Given the description of an element on the screen output the (x, y) to click on. 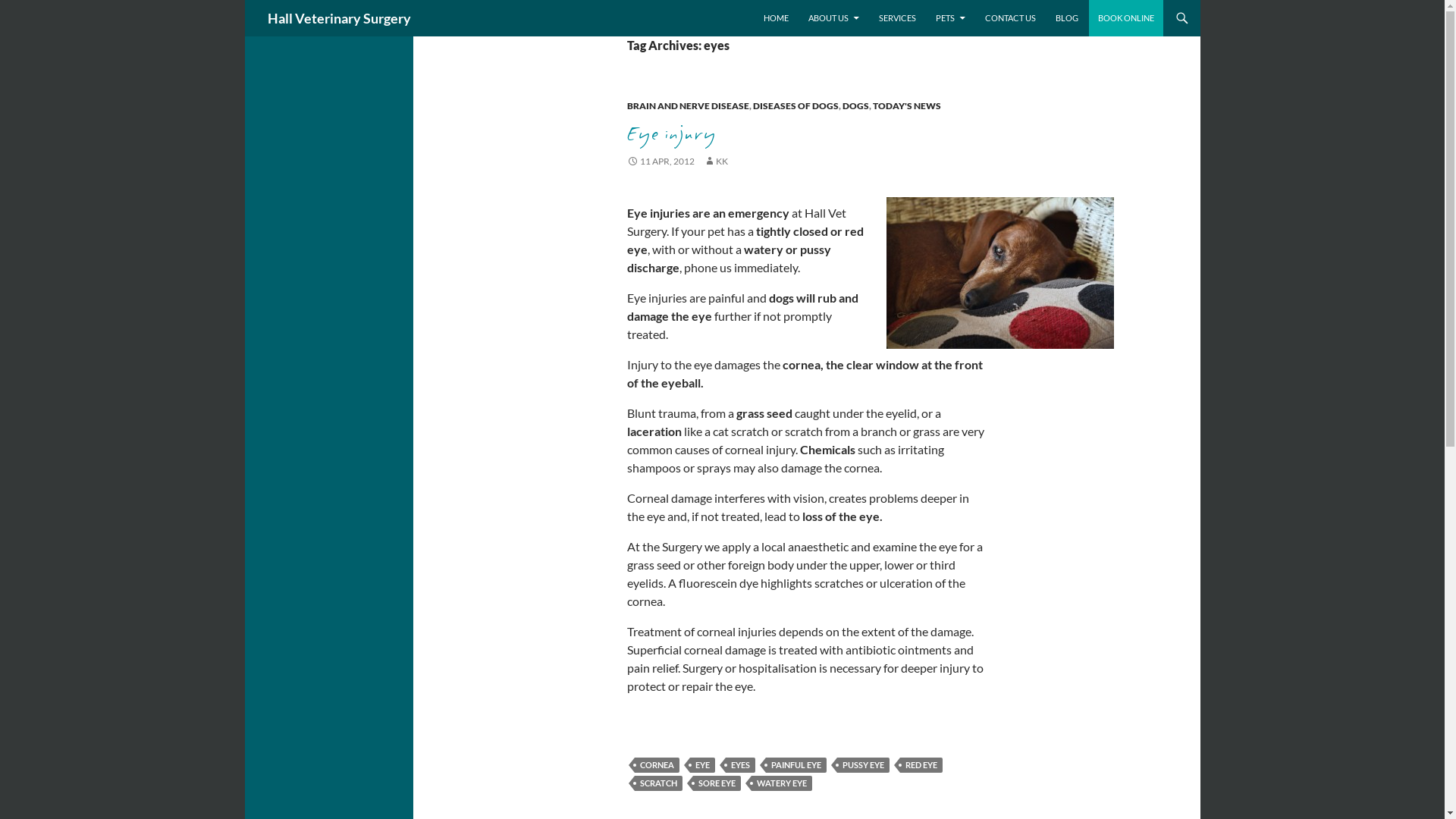
SORE EYE Element type: text (716, 782)
PUSSY EYE Element type: text (863, 764)
ABOUT US Element type: text (833, 18)
SCRATCH Element type: text (657, 782)
RED EYE Element type: text (920, 764)
CORNEA Element type: text (655, 764)
WATERY EYE Element type: text (780, 782)
BOOK ONLINE Element type: text (1125, 18)
CONTACT US Element type: text (1009, 18)
BLOG Element type: text (1066, 18)
11 APR, 2012 Element type: text (659, 160)
TODAY'S NEWS Element type: text (906, 105)
Hall Veterinary Surgery Element type: text (338, 18)
KK Element type: text (715, 160)
Eye injury Element type: text (670, 133)
BRAIN AND NERVE DISEASE Element type: text (687, 105)
EYES Element type: text (739, 764)
PETS Element type: text (950, 18)
PAINFUL EYE Element type: text (795, 764)
DOGS Element type: text (854, 105)
EYE Element type: text (702, 764)
HOME Element type: text (775, 18)
DISEASES OF DOGS Element type: text (794, 105)
SERVICES Element type: text (896, 18)
IMG_8545-1 Element type: hover (999, 272)
